Given the description of an element on the screen output the (x, y) to click on. 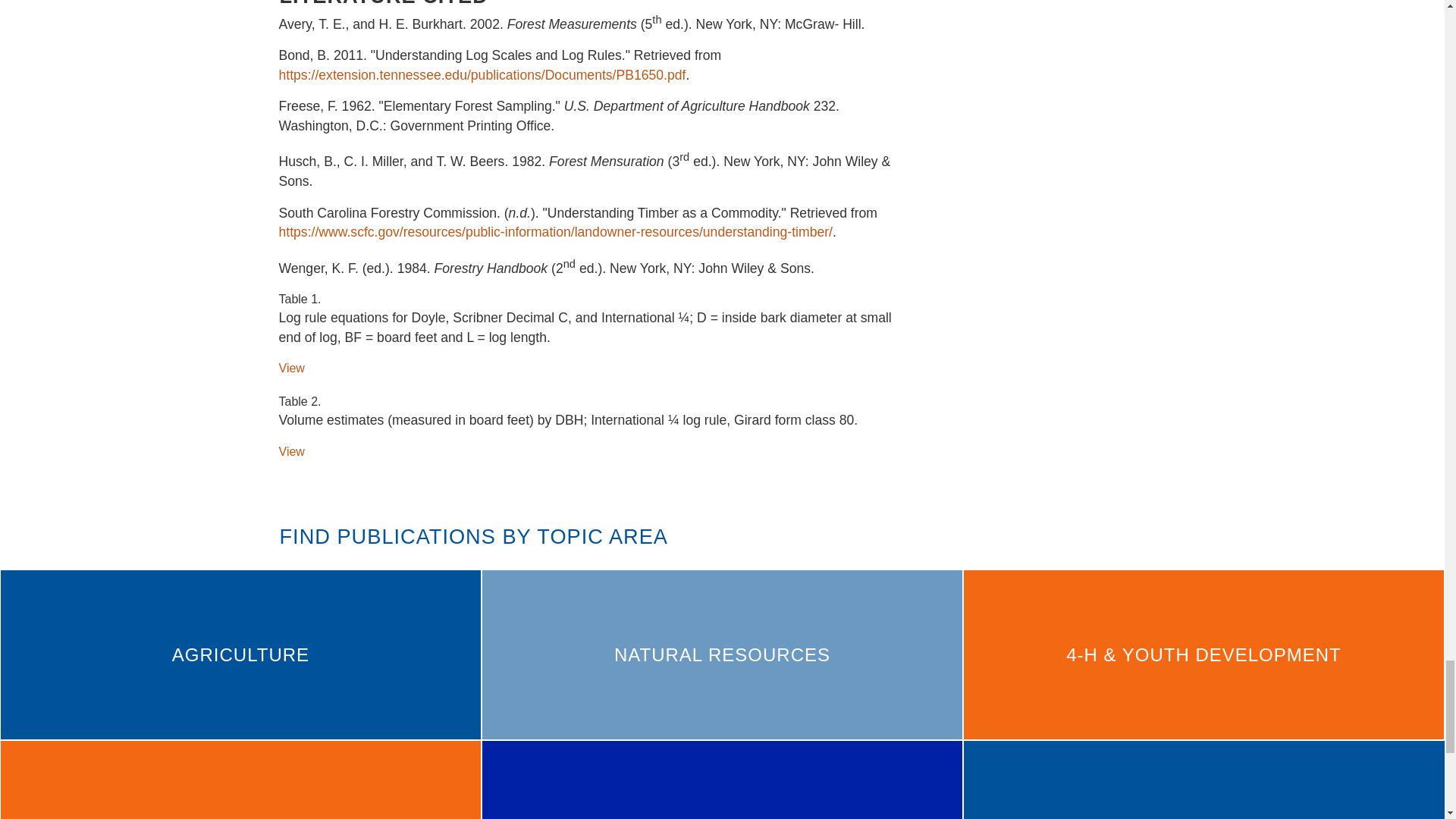
NATURAL RESOURCES (721, 654)
FAMILY RESOURCES (721, 780)
View (291, 451)
View (291, 367)
AGRICULTURE (240, 654)
